Given the description of an element on the screen output the (x, y) to click on. 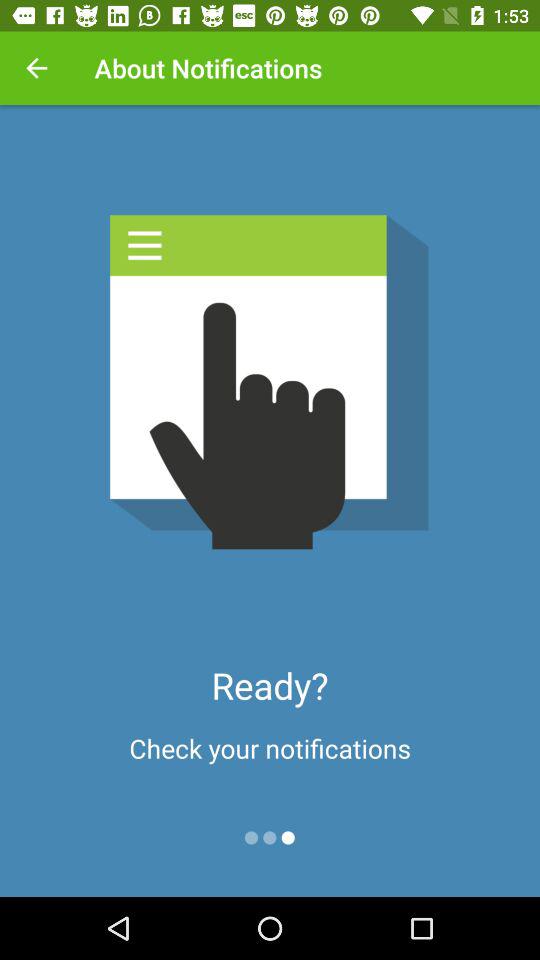
launch item at the top left corner (36, 68)
